Given the description of an element on the screen output the (x, y) to click on. 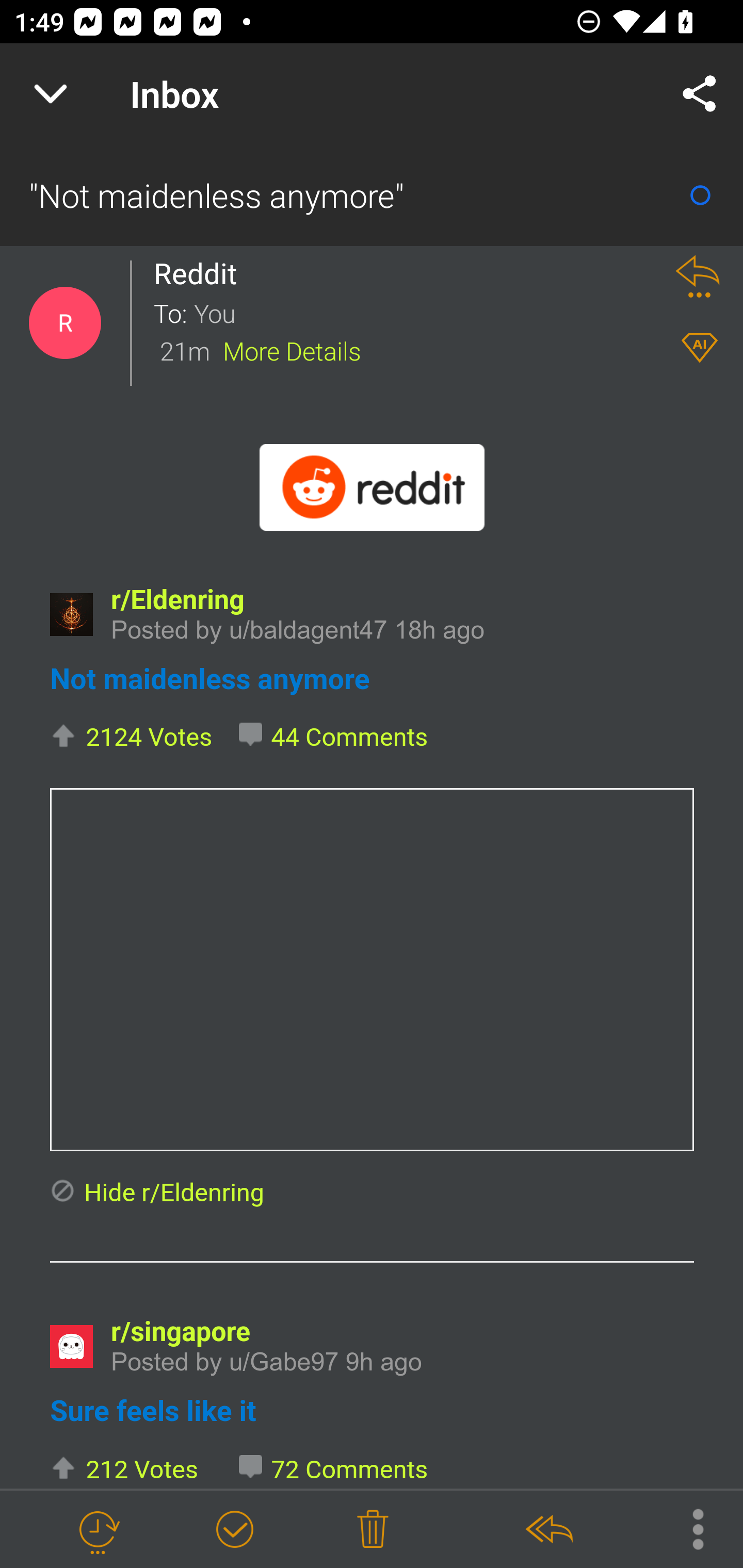
Navigate up (50, 93)
Share (699, 93)
Mark as Read (699, 194)
Reddit (200, 273)
Contact Details (64, 322)
You (422, 311)
More Details (291, 349)
r/Eldenring (177, 599)
Not maidenless anymore (209, 678)
2124 Votes (130, 737)
44 Comments (333, 737)
  (371, 968)
Hide r/Eldenring (156, 1192)
r/singapore (180, 1332)
PgMtD8M1QVPTxgWakxZT4rOek28rOwceoA12MWIm7Xs=344 (70, 1346)
Sure feels like it (152, 1411)
212 Votes (123, 1468)
72 Comments (333, 1468)
More Options (687, 1528)
Snooze (97, 1529)
Mark as Done (234, 1529)
Delete (372, 1529)
Reply All (548, 1529)
